Given the description of an element on the screen output the (x, y) to click on. 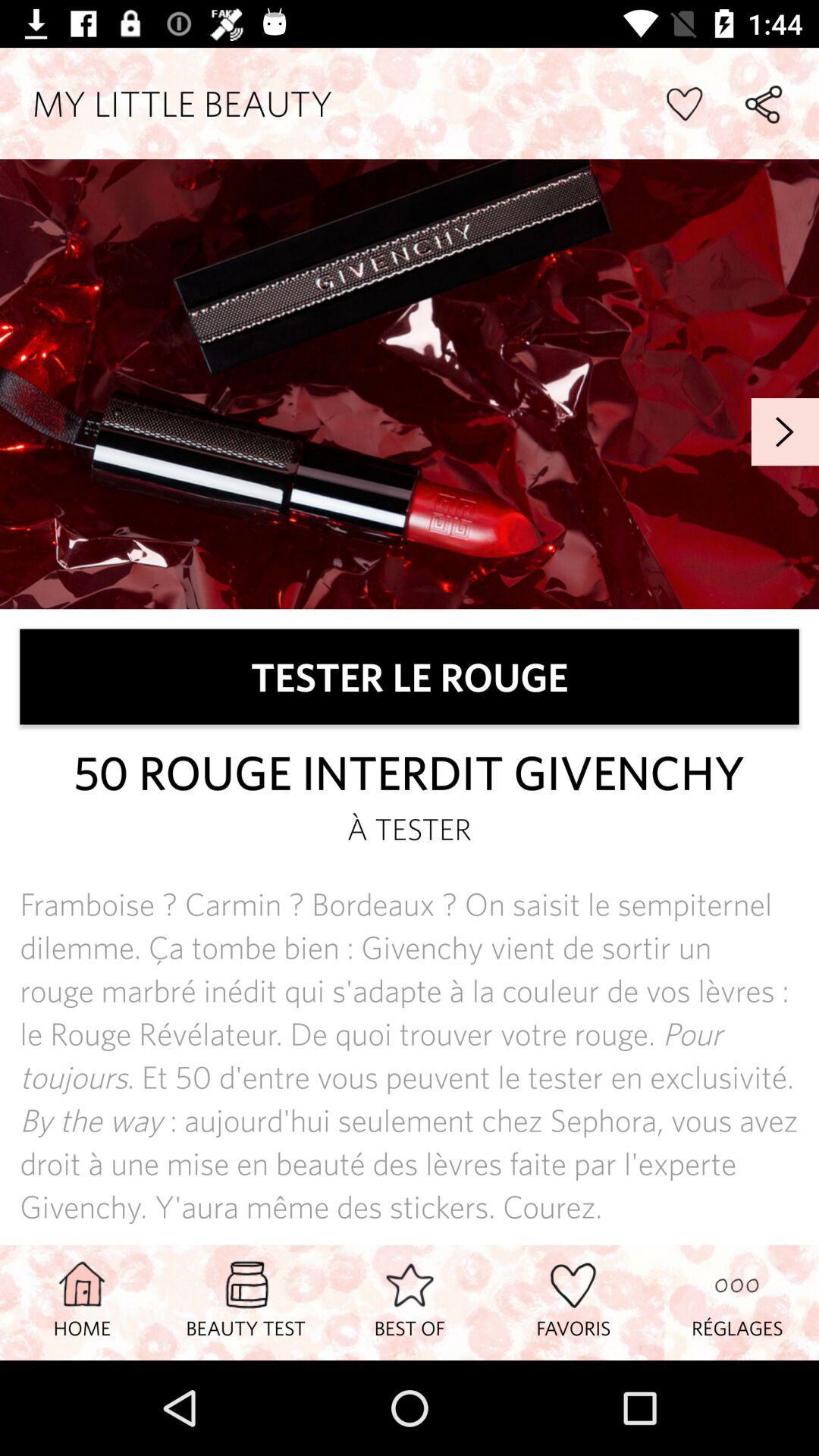
turn on the favoris icon (573, 1302)
